Given the description of an element on the screen output the (x, y) to click on. 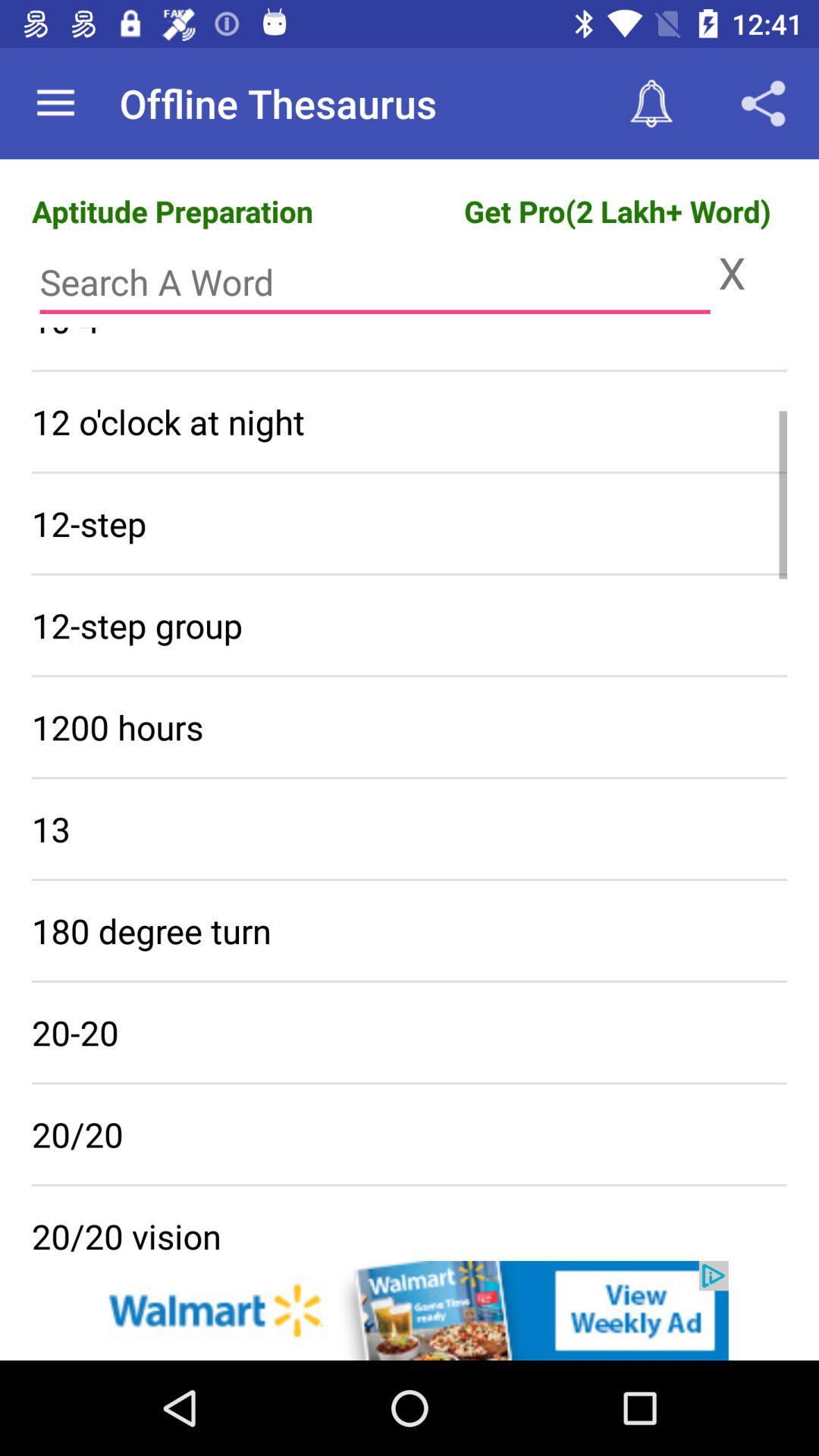
advertisent page (409, 1310)
